Given the description of an element on the screen output the (x, y) to click on. 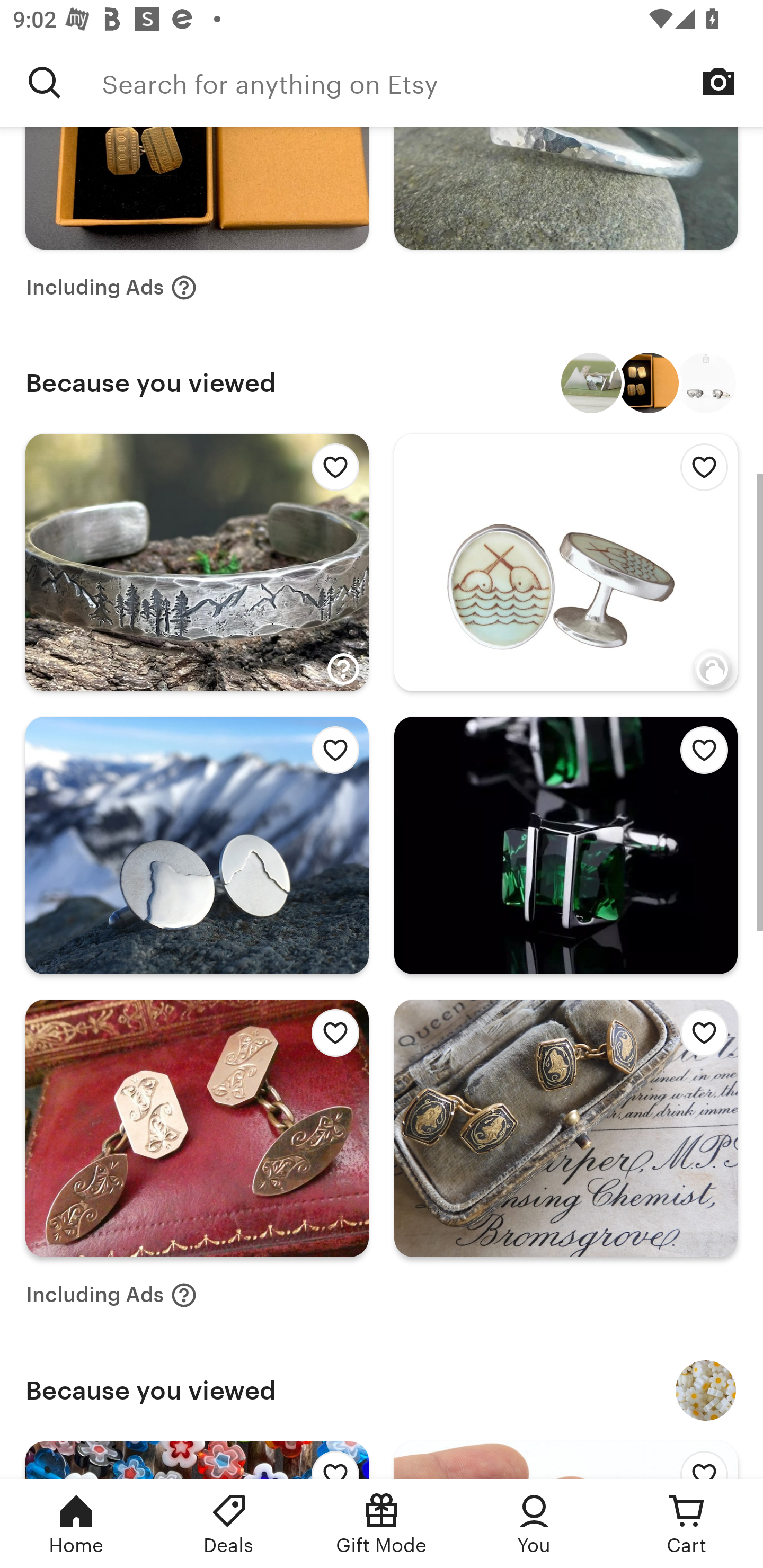
Search for anything on Etsy (44, 82)
Search by image (718, 81)
Search for anything on Etsy (432, 82)
Including Ads (111, 287)
Including Ads (111, 1294)
Millefiori Glass Daisy Flower Beads (705, 1389)
Deals (228, 1523)
Gift Mode (381, 1523)
You (533, 1523)
Cart (686, 1523)
